Given the description of an element on the screen output the (x, y) to click on. 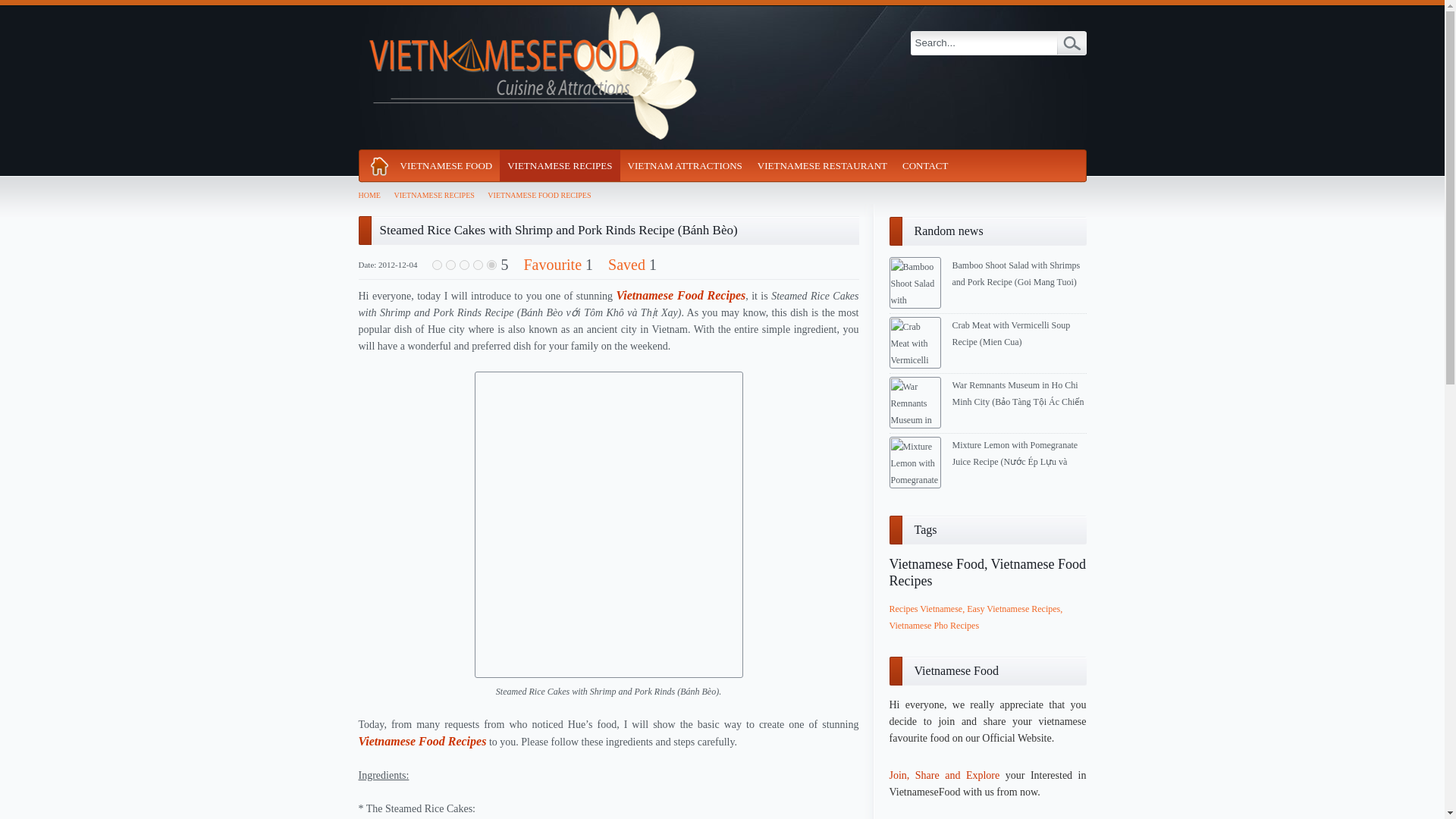
VietnameseFood (529, 77)
5 (491, 265)
Vietnamese Recipes (559, 164)
VIETNAMESE RECIPES (437, 194)
VIETNAMESE RESTAURANT (822, 164)
VIETNAMESE RECIPES (559, 164)
CONTACT (925, 164)
VIETNAMESE FOOD RECIPES (542, 194)
1 (437, 265)
3 (464, 265)
